Given the description of an element on the screen output the (x, y) to click on. 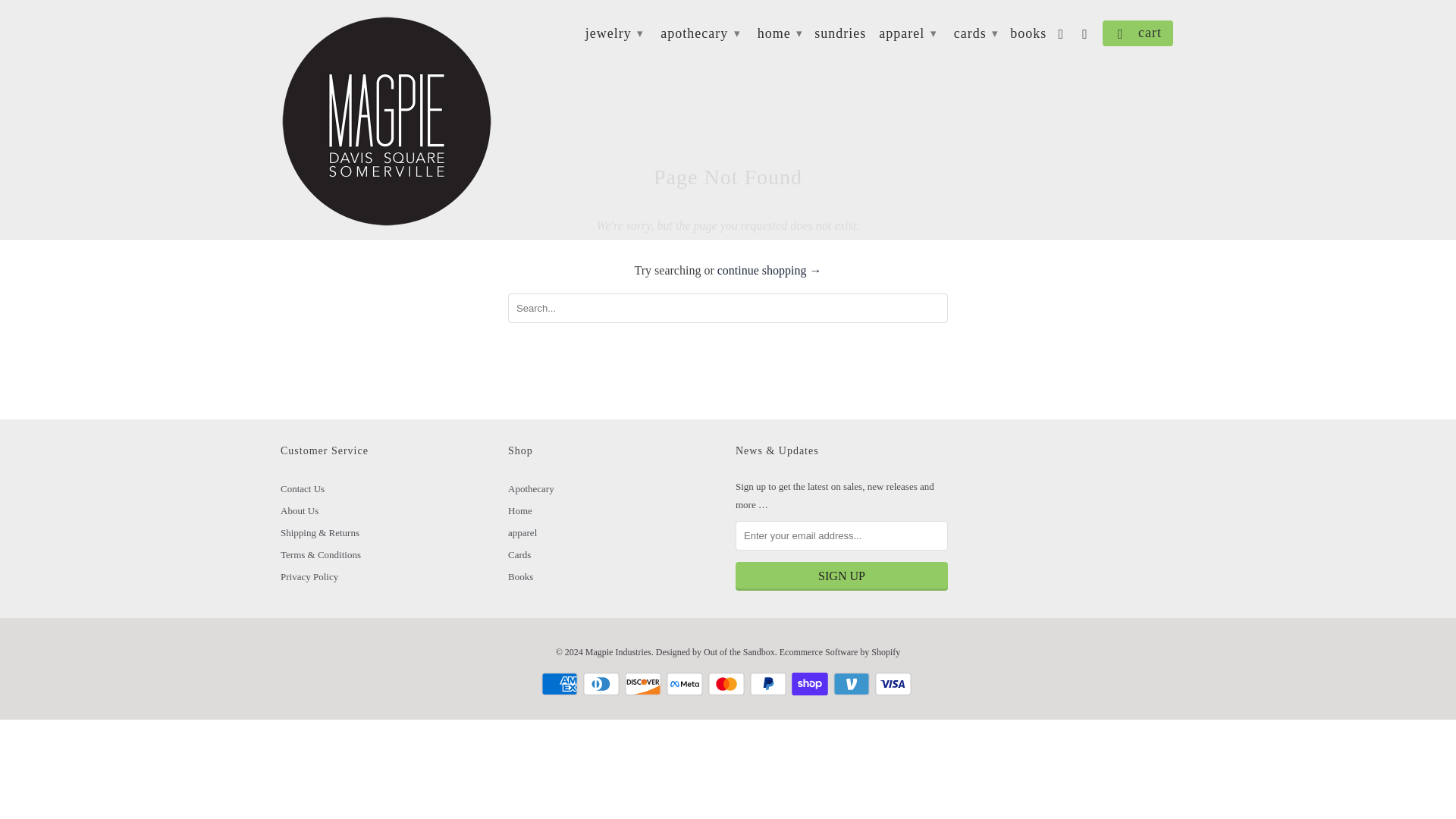
Books (520, 576)
Retina Shopify Theme by Out of the Sandbox (738, 652)
About Us (299, 510)
Privacy Policy (309, 576)
Home (520, 510)
Contact Us (302, 488)
Apothecary (531, 488)
Sign Up (841, 575)
Magpie Industries (387, 119)
apparel (522, 532)
